Given the description of an element on the screen output the (x, y) to click on. 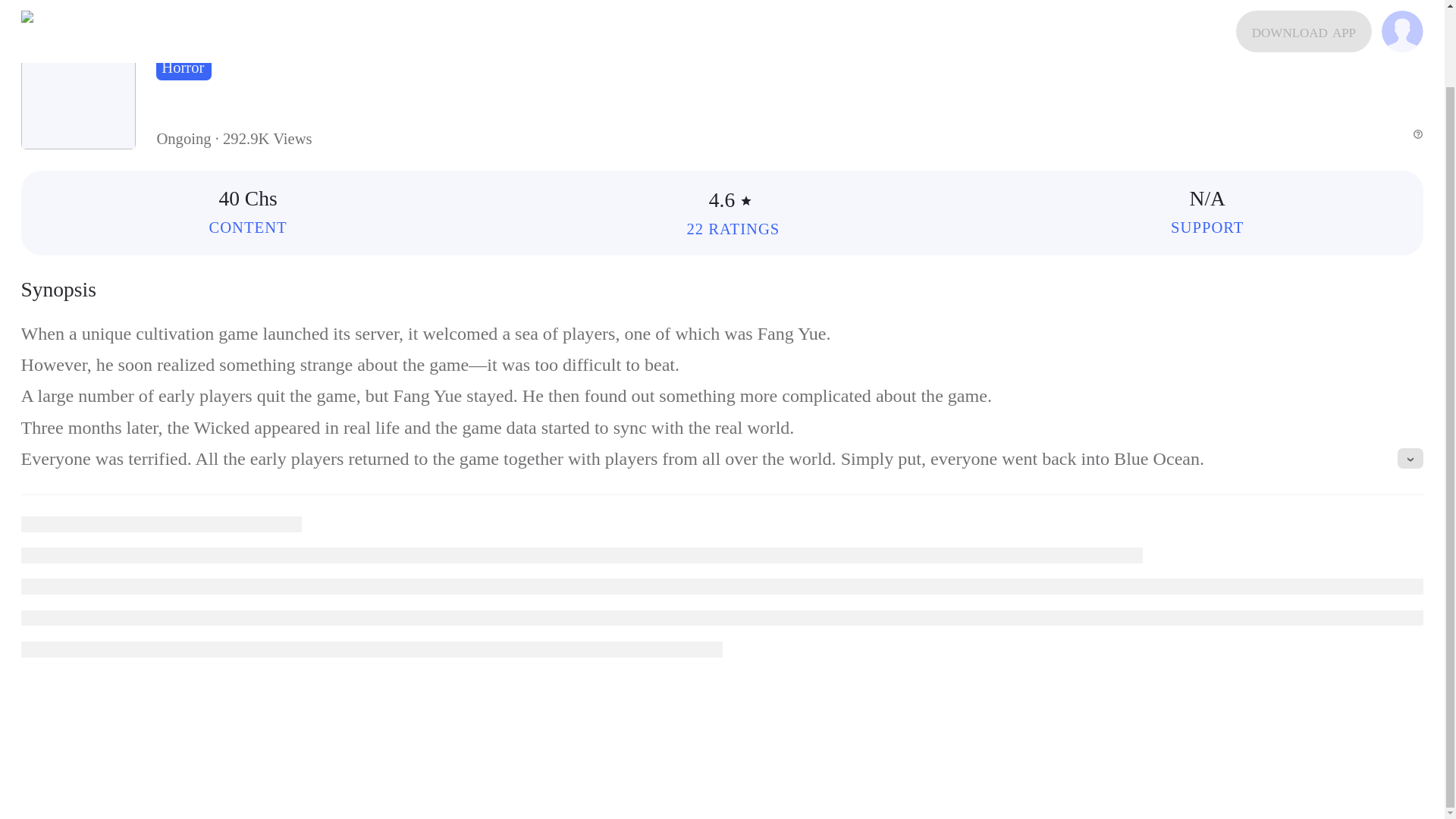
Horror (183, 67)
Horror (183, 67)
Content of The Wicked Cultivation Game (247, 227)
Reviews (731, 228)
